Given the description of an element on the screen output the (x, y) to click on. 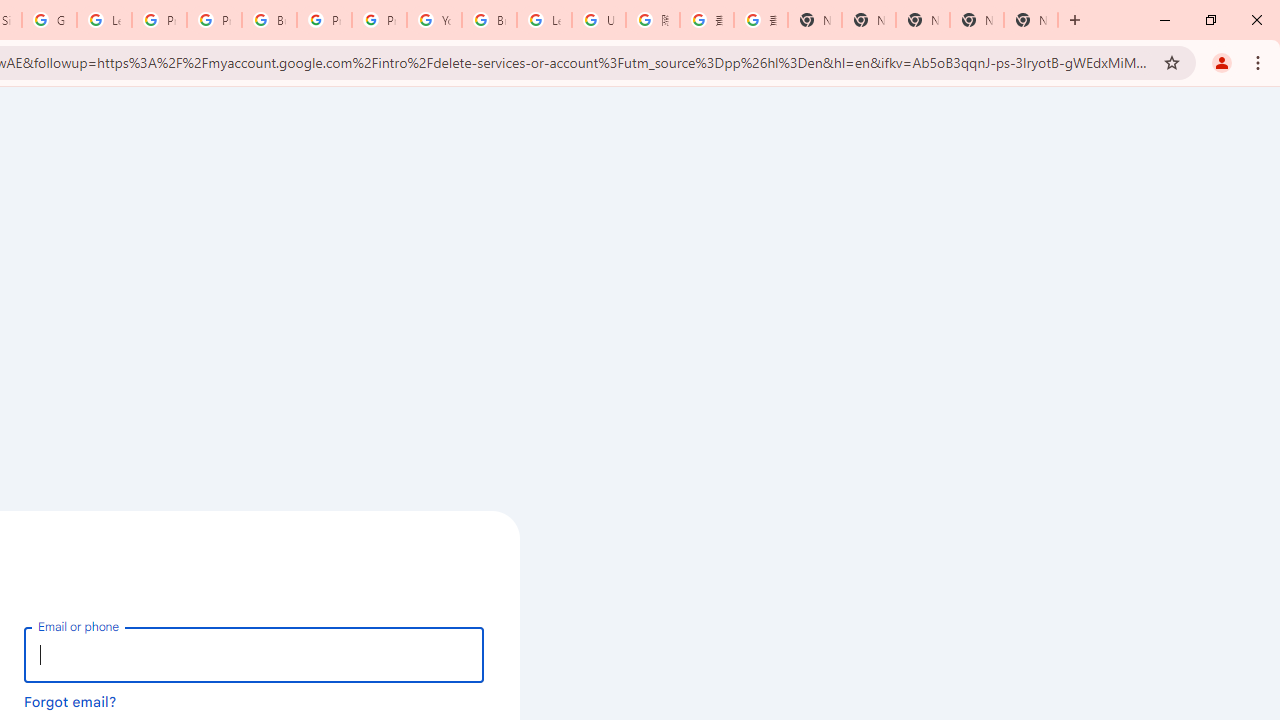
New Tab (1030, 20)
YouTube (434, 20)
